Given the description of an element on the screen output the (x, y) to click on. 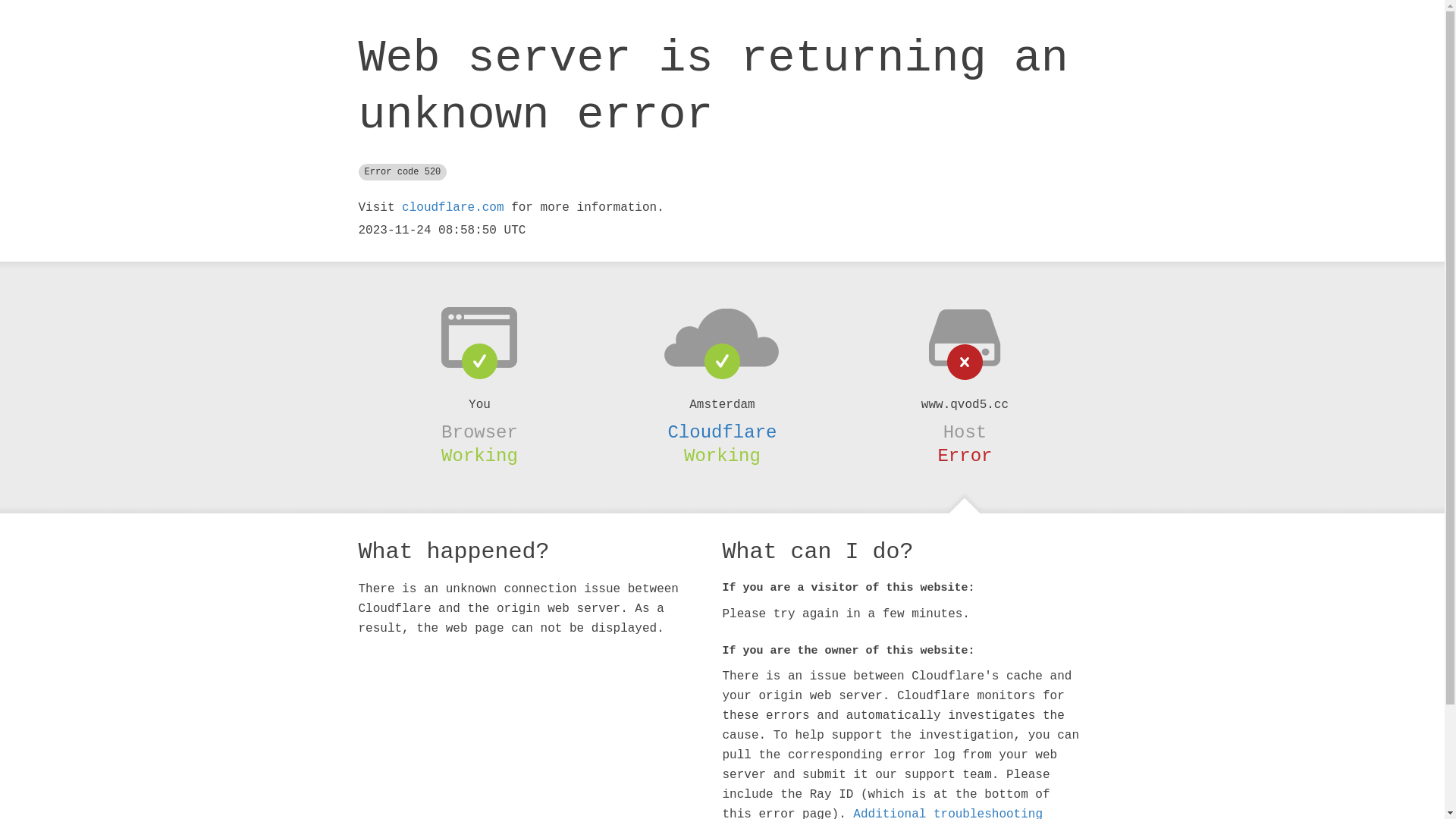
cloudflare.com Element type: text (452, 207)
Cloudflare Element type: text (721, 432)
